Given the description of an element on the screen output the (x, y) to click on. 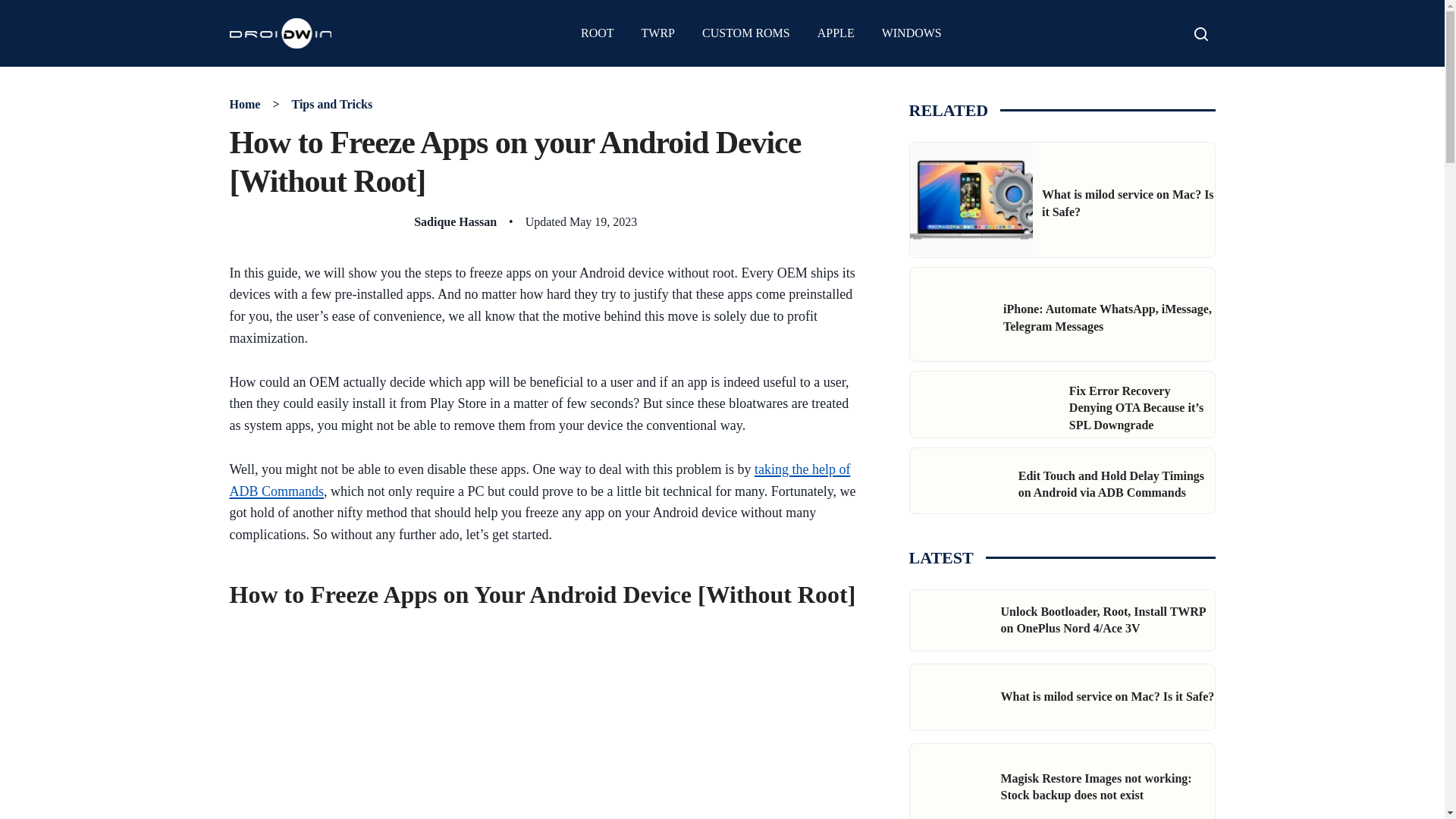
taking the help of ADB Commands (539, 479)
Home (244, 103)
Droidwin (279, 33)
What is milod service on Mac? Is it Safe? (1128, 202)
APPLE (835, 33)
Sadique Hassan (454, 221)
WINDOWS (912, 33)
ROOT (597, 33)
CUSTOM ROMS (745, 33)
